Given the description of an element on the screen output the (x, y) to click on. 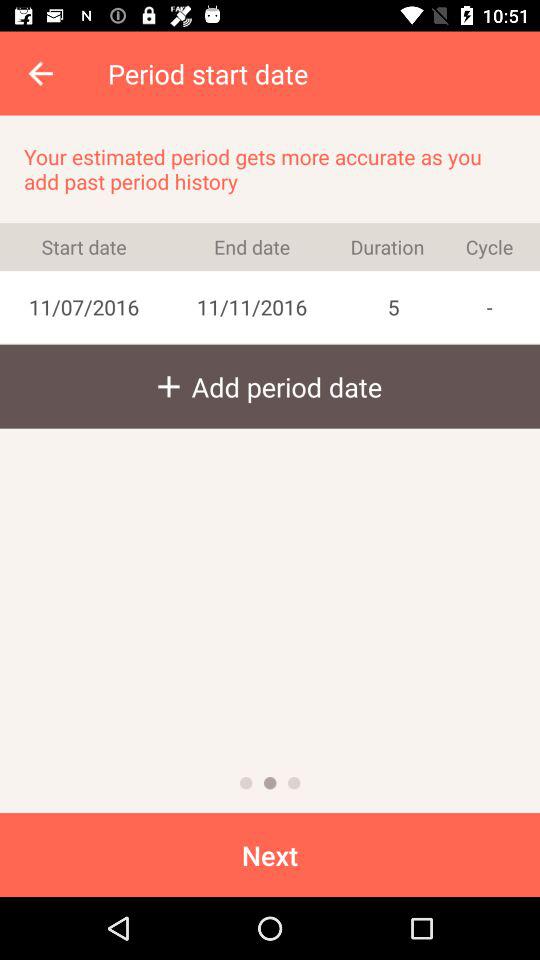
go back (246, 783)
